Given the description of an element on the screen output the (x, y) to click on. 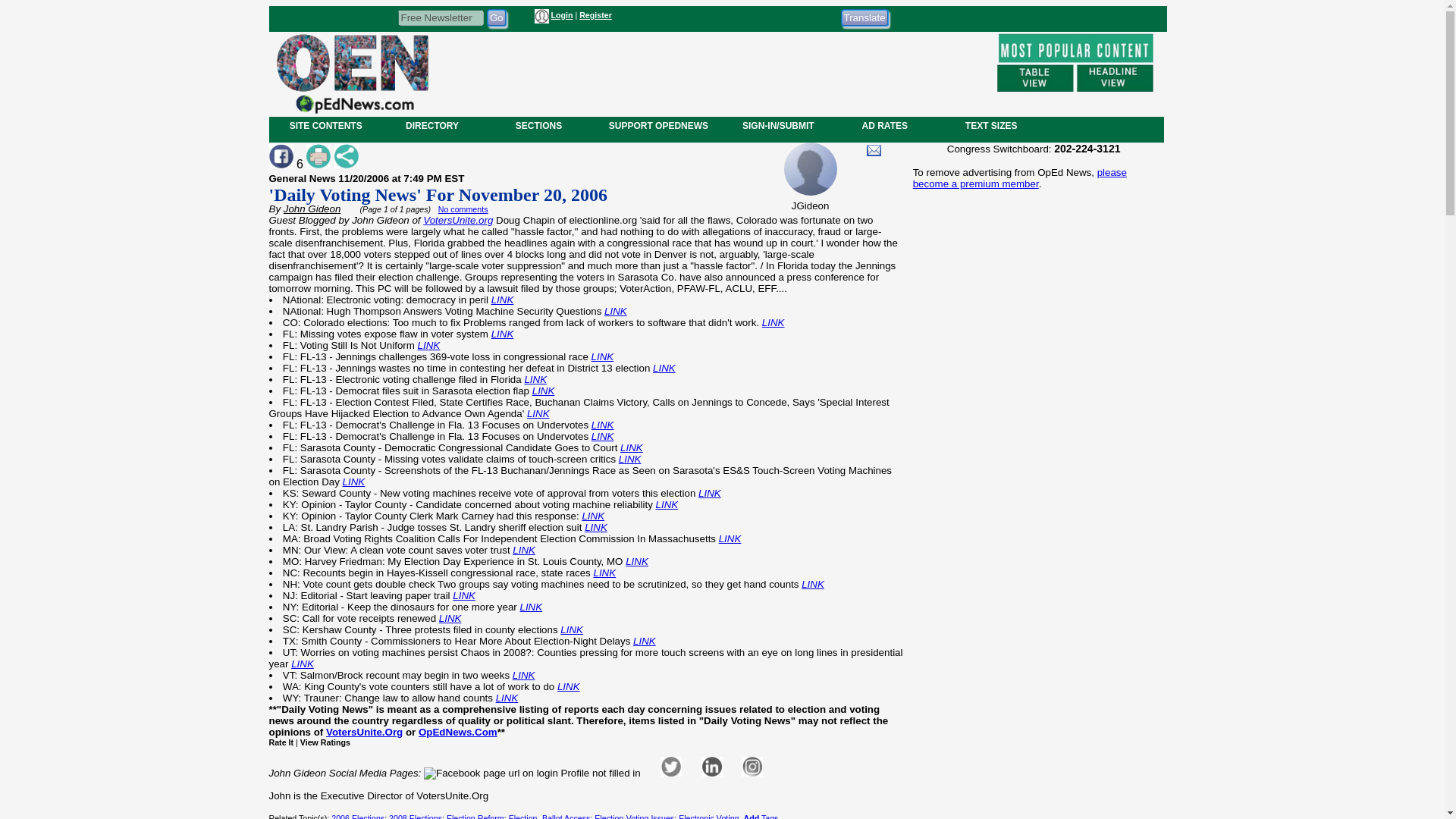
LINK (429, 345)
LINK (538, 413)
Login (561, 14)
More Sharing (346, 156)
LINK (663, 367)
LINK (602, 424)
LINK (602, 356)
Free Newsletter (440, 17)
LINK (615, 310)
Translate (864, 17)
Go (496, 17)
TEXT SIZES (990, 125)
LINK (543, 390)
SECTIONS (537, 125)
Message John Gideon (873, 150)
